Given the description of an element on the screen output the (x, y) to click on. 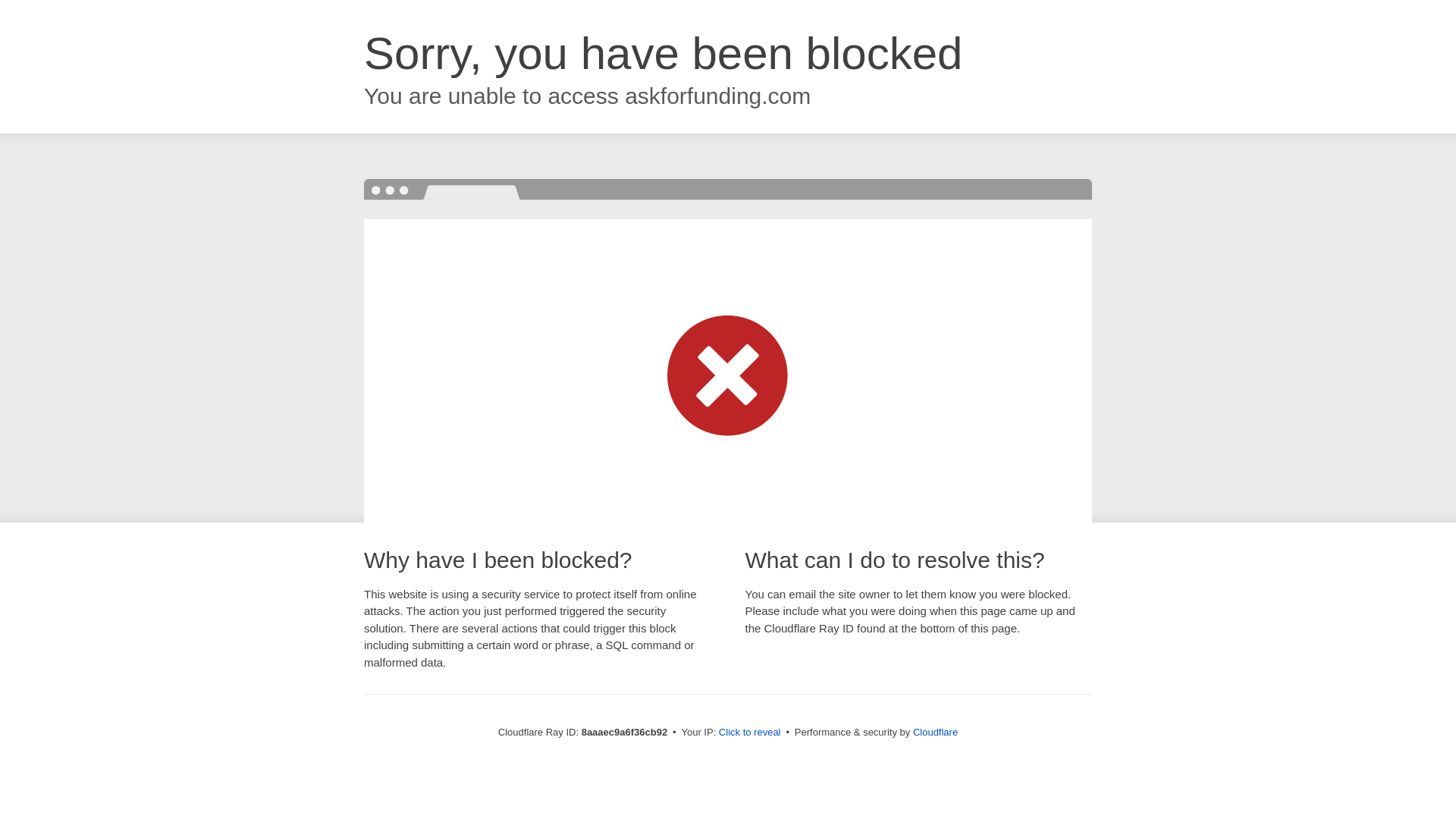
Click to reveal (749, 732)
Cloudflare (935, 731)
